Given the description of an element on the screen output the (x, y) to click on. 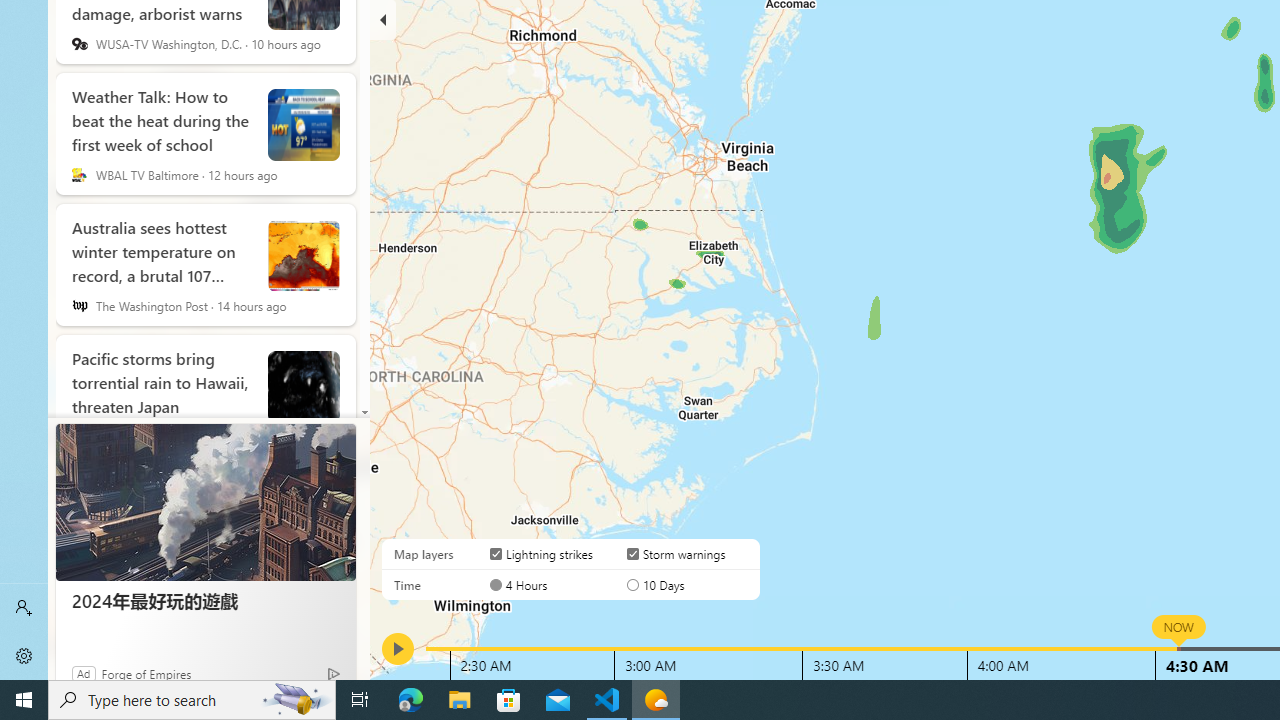
Microsoft Edge (411, 699)
Type here to search (191, 699)
Microsoft Store (509, 699)
Start (24, 699)
Sign in (24, 607)
Search highlights icon opens search home window (295, 699)
Weather - 1 running window (656, 699)
Settings (24, 655)
File Explorer (460, 699)
Visual Studio Code - 1 running window (607, 699)
Task View (359, 699)
